Given the description of an element on the screen output the (x, y) to click on. 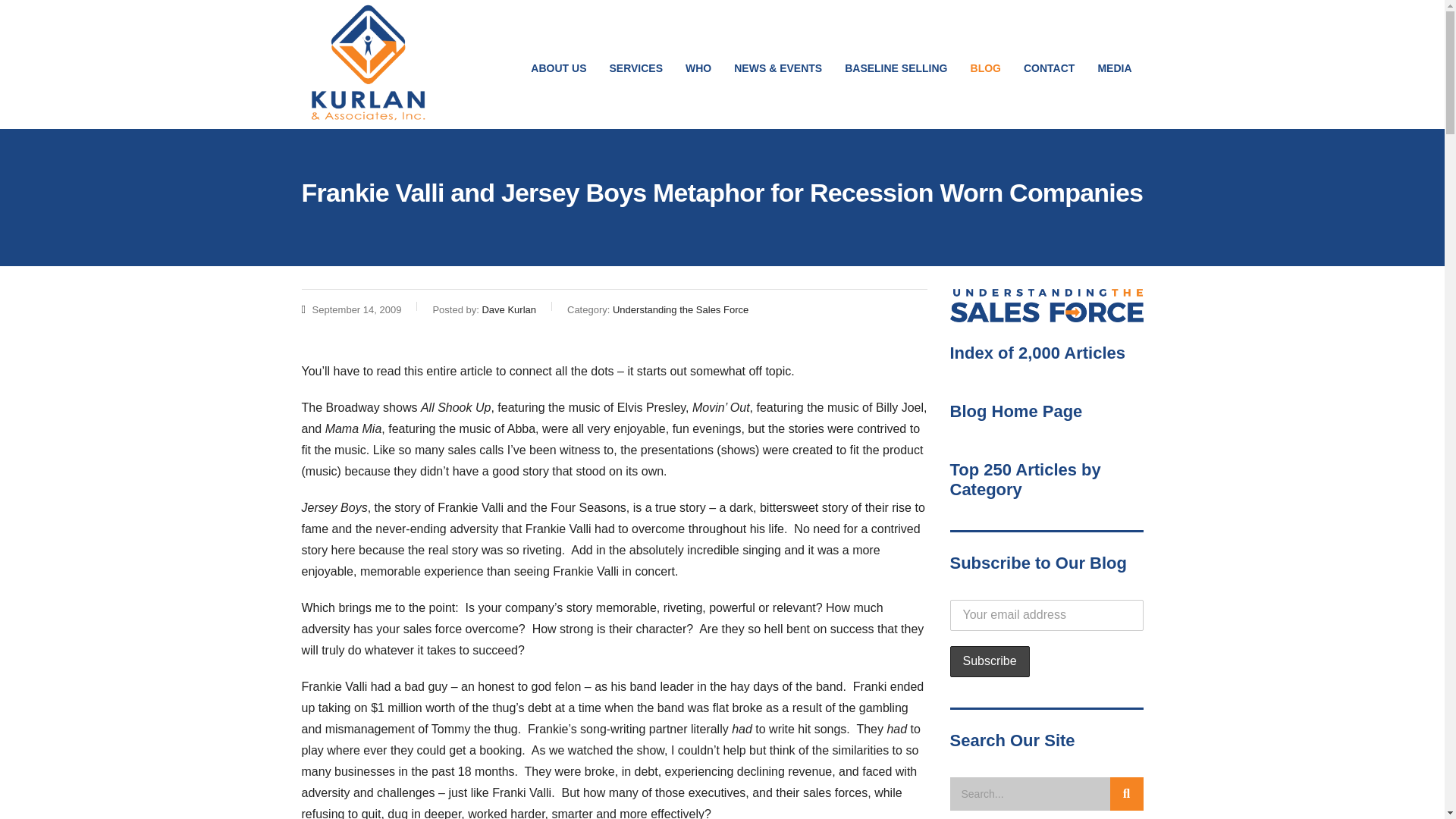
WHO (698, 68)
Subscribe (989, 661)
ABOUT US (557, 68)
SERVICES (635, 68)
